Given the description of an element on the screen output the (x, y) to click on. 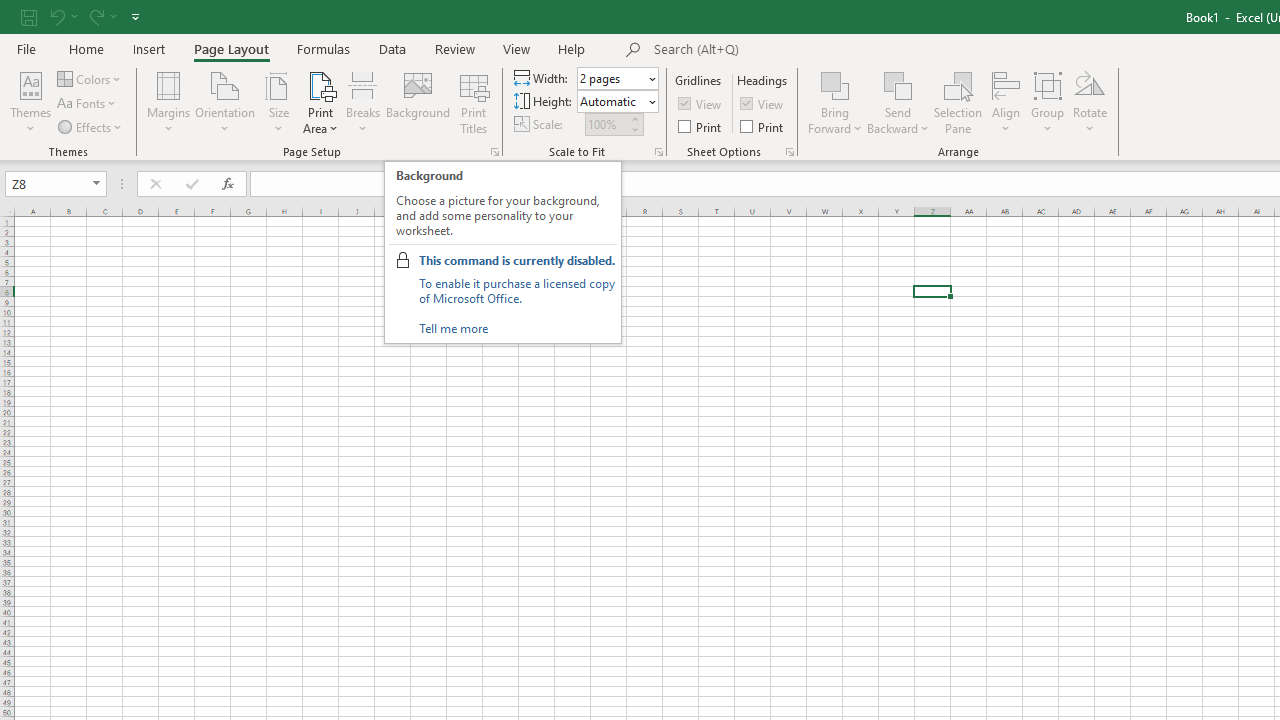
Rotate (1089, 102)
Colors (90, 78)
Sheet Options (789, 151)
Height (618, 101)
Height (611, 101)
